Given the description of an element on the screen output the (x, y) to click on. 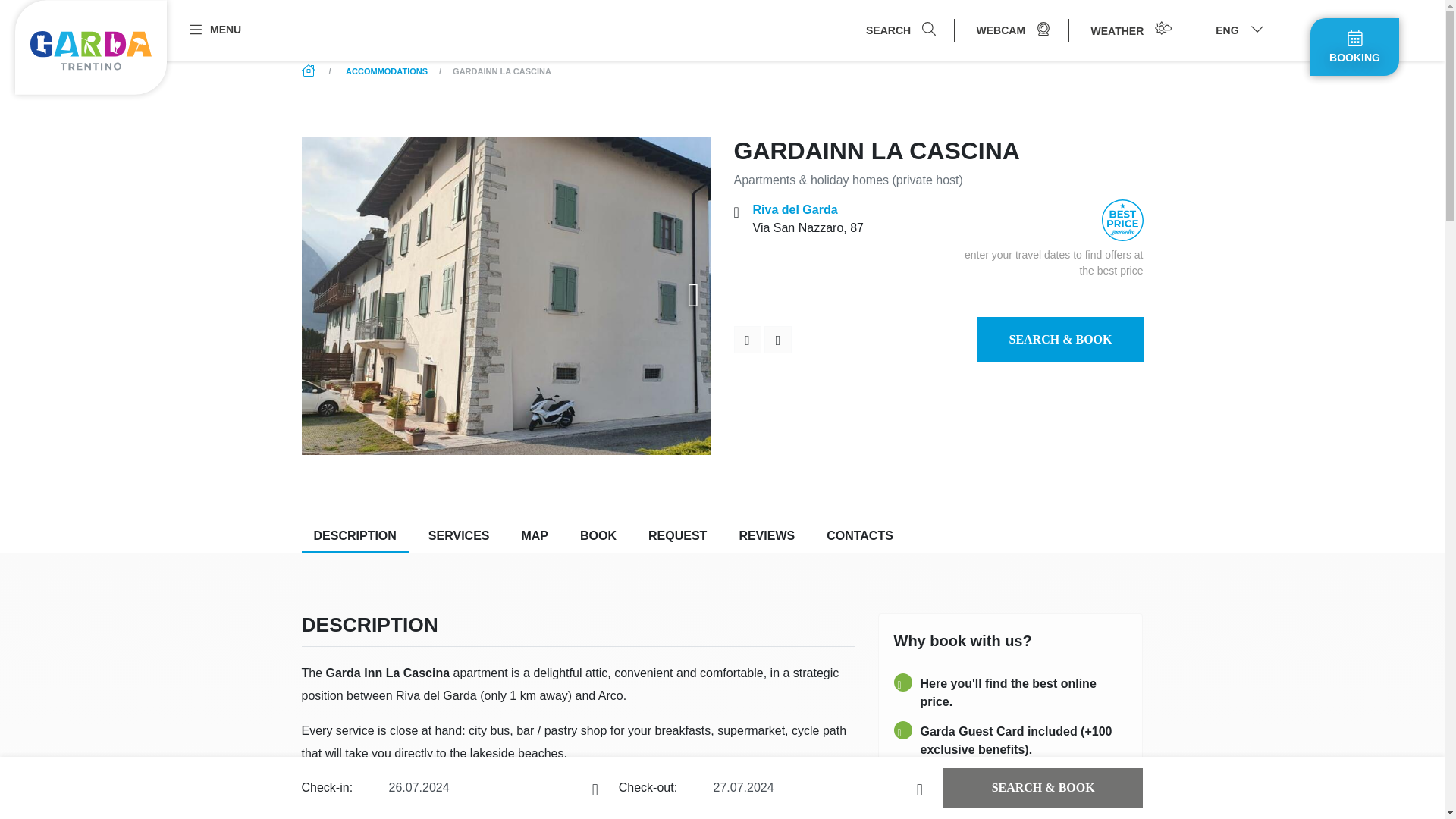
WEATHER (1132, 30)
GARDAINN LA CASCINA (501, 71)
GARDAINN LA CASCINA (501, 71)
BOOKING (1354, 47)
accommodations (387, 71)
MENU (214, 29)
27.07.2024 (817, 787)
26.07.2024 (492, 787)
ENG (1238, 29)
WEBCAM (1013, 29)
ACCOMMODATIONS (387, 71)
SEARCH (900, 29)
